Given the description of an element on the screen output the (x, y) to click on. 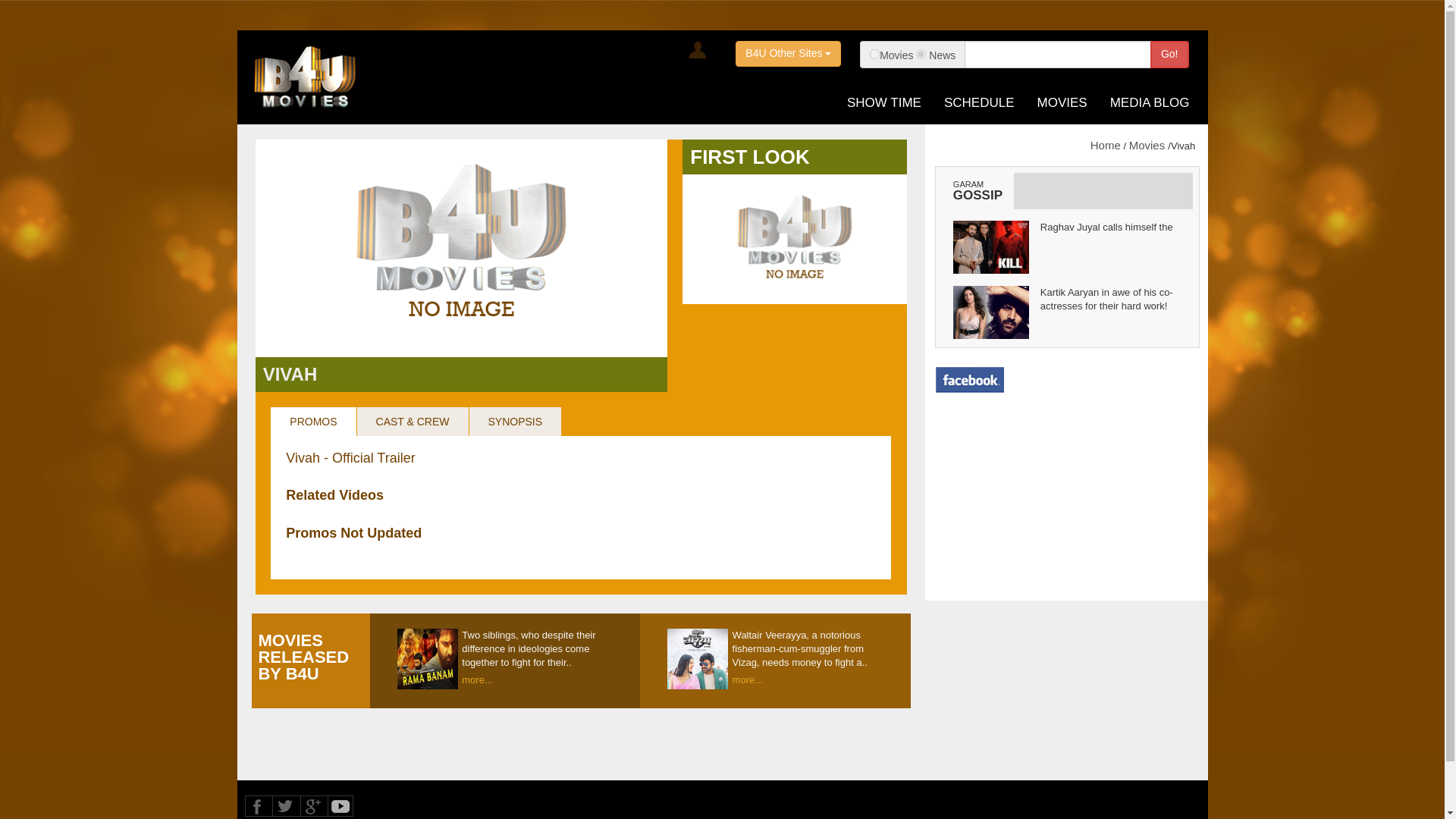
Go! (1169, 53)
MOVIES (1061, 102)
MEDIA BLOG (1149, 102)
more... (536, 678)
SCHEDULE (978, 102)
VIVAH (290, 373)
Waltair Veerayya (697, 658)
Home (1105, 144)
CONTACT US (387, 815)
more... (807, 678)
SHOW TIME (884, 102)
B4U Other Sites (788, 53)
B4U PRIVACY POLICY (474, 815)
